Given the description of an element on the screen output the (x, y) to click on. 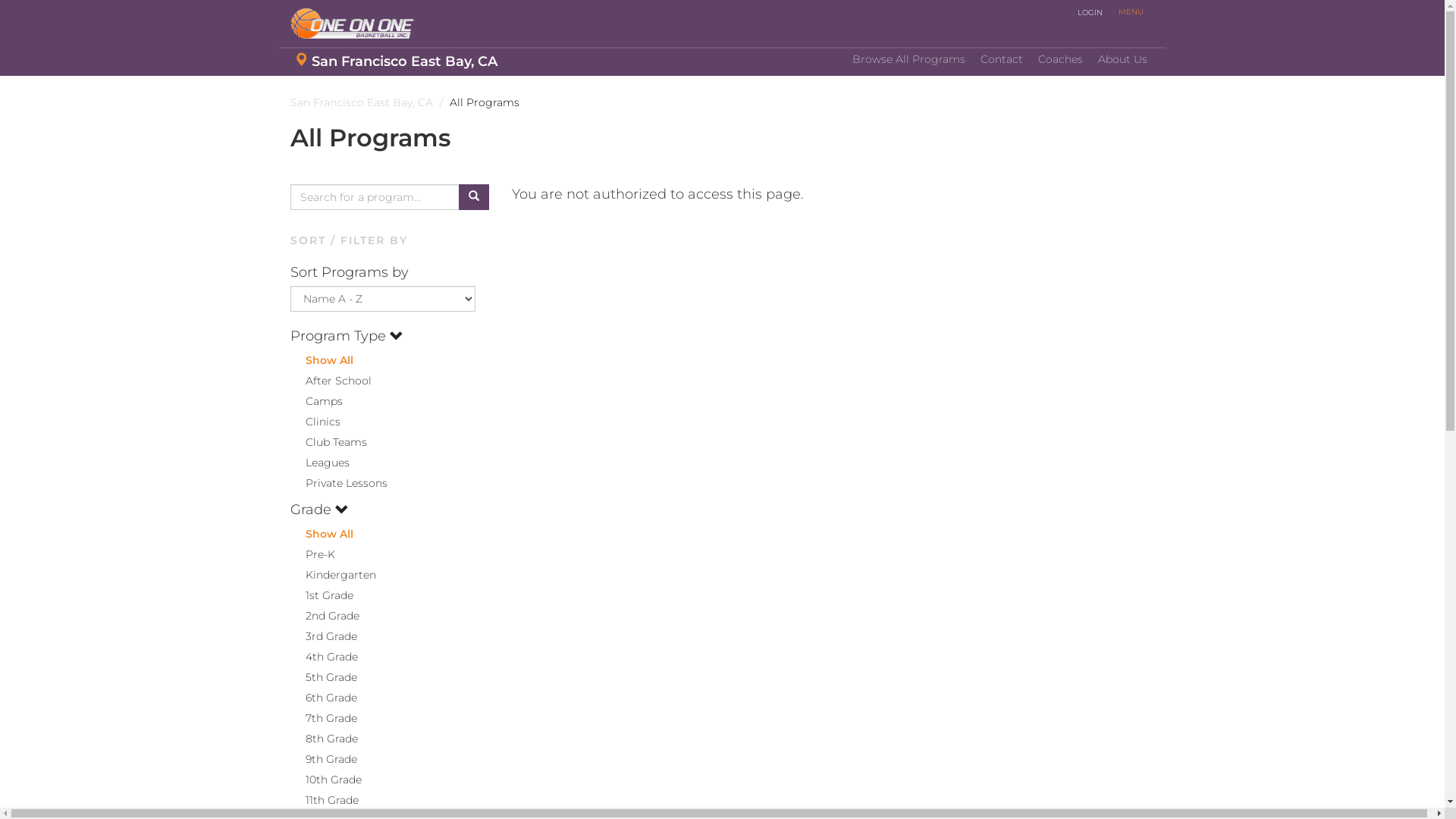
10th Grade Element type: text (324, 779)
Pre-K Element type: text (311, 553)
Home Element type: hover (357, 23)
Coaches Element type: text (1059, 59)
After School Element type: text (329, 380)
LOGIN Element type: text (1089, 12)
Club Teams Element type: text (327, 441)
Show All Element type: text (320, 533)
4th Grade Element type: text (323, 656)
Contact Element type: text (1000, 59)
San Francisco East Bay, CA Element type: text (395, 62)
Browse All Programs Element type: text (908, 59)
MENU Element type: text (1130, 12)
6th Grade Element type: text (322, 697)
9th Grade Element type: text (322, 758)
Skip to main content Element type: text (0, 76)
Leagues Element type: text (318, 462)
5th Grade Element type: text (322, 676)
Camps Element type: text (315, 400)
About Us Element type: text (1122, 59)
7th Grade Element type: text (322, 717)
2nd Grade Element type: text (323, 615)
8th Grade Element type: text (323, 738)
Private Lessons Element type: text (337, 482)
3rd Grade Element type: text (322, 635)
Show All Element type: text (320, 359)
Apply Element type: text (24, 12)
Kindergarten Element type: text (332, 574)
1st Grade Element type: text (320, 594)
11th Grade Element type: text (323, 799)
Clinics Element type: text (314, 421)
